Given the description of an element on the screen output the (x, y) to click on. 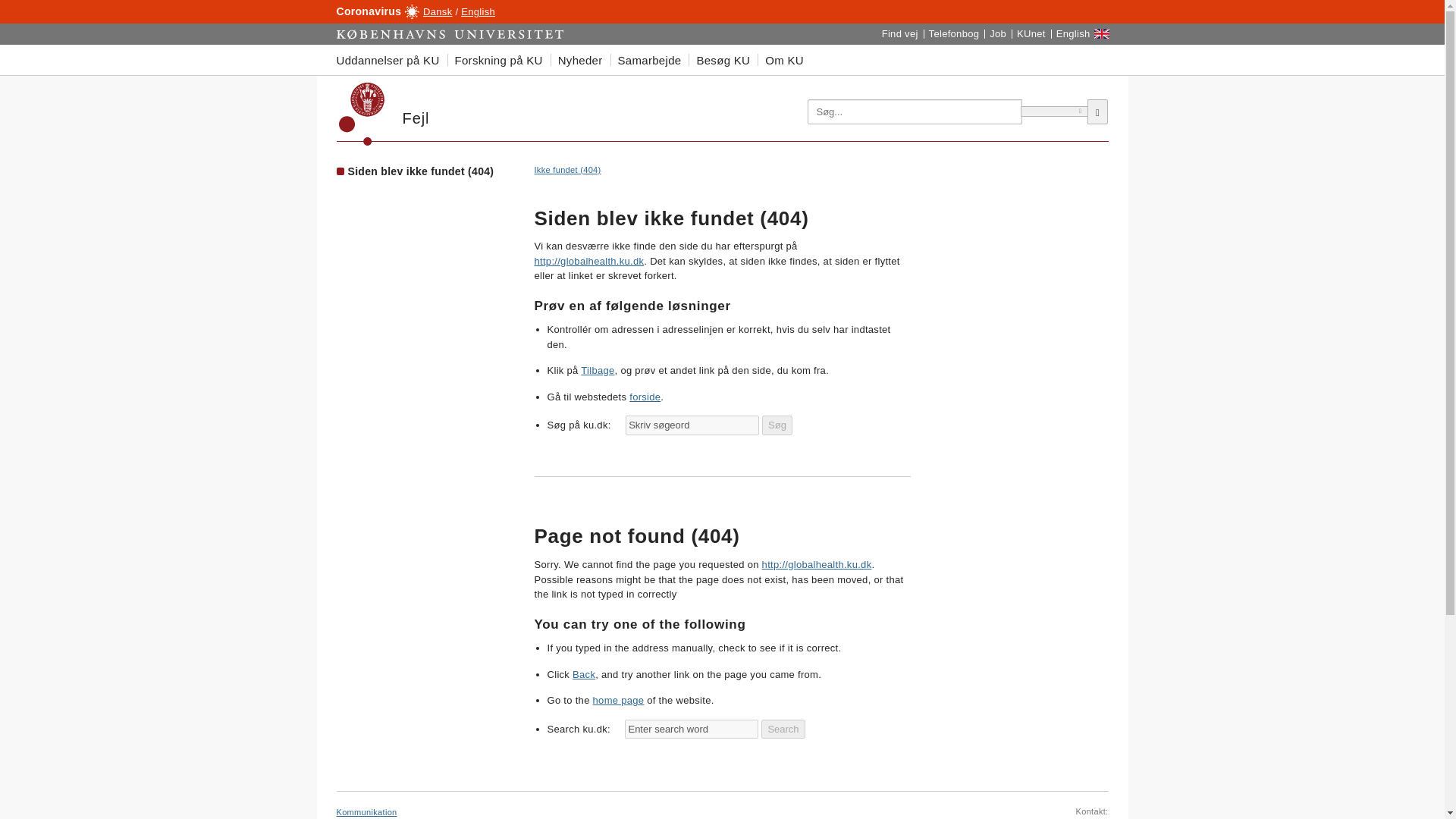
Start (450, 34)
Enter search word (691, 729)
Search (783, 729)
